Given the description of an element on the screen output the (x, y) to click on. 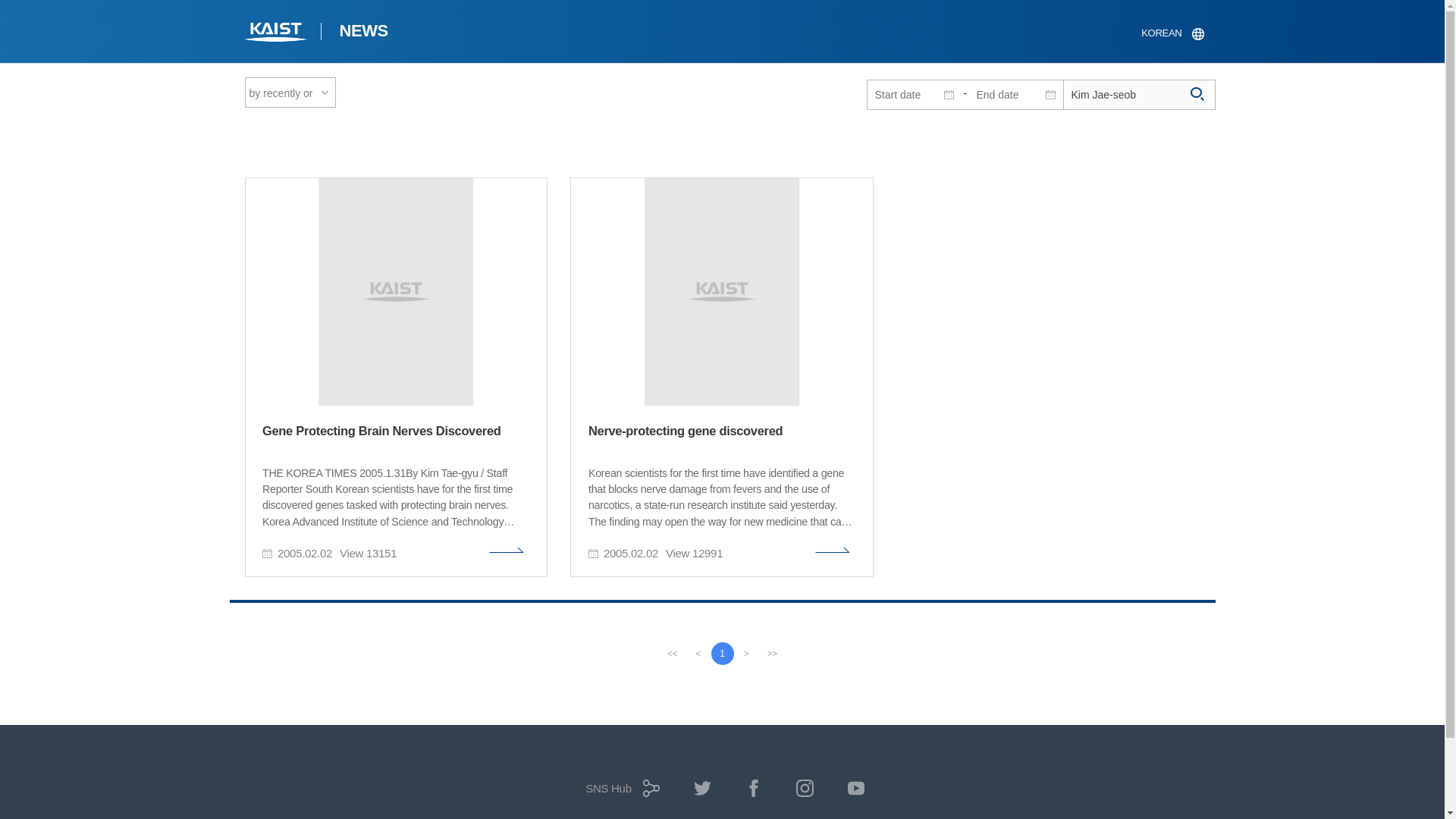
1 (722, 653)
SNS Hub (619, 793)
NEWS (363, 33)
Kim Jae-seob (1138, 94)
KAIST (276, 33)
KOREAN (1171, 33)
Input a Keyword (1138, 94)
